Given the description of an element on the screen output the (x, y) to click on. 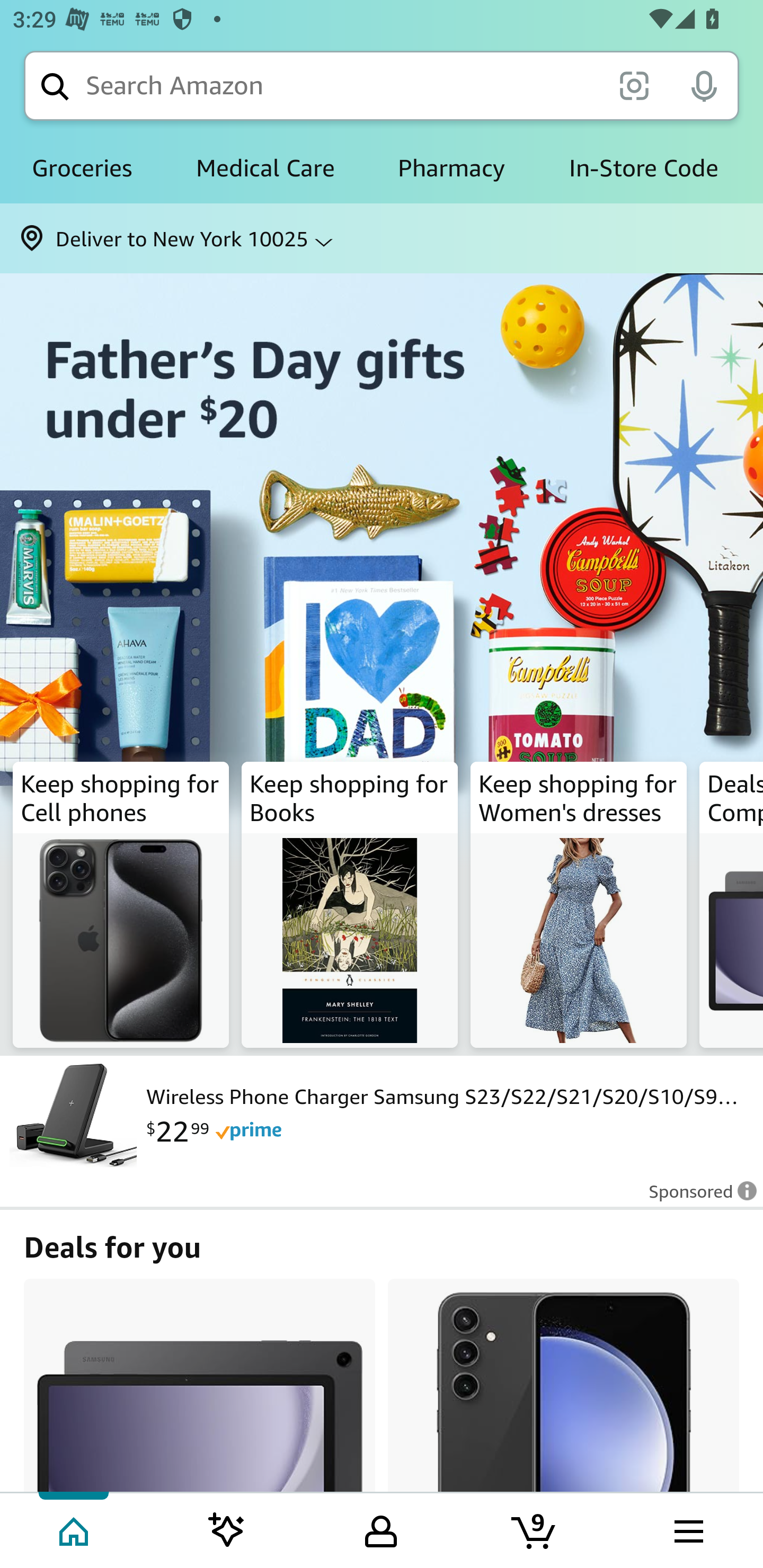
scan it (633, 85)
Groceries (82, 168)
Medical Care (265, 168)
Pharmacy (451, 168)
In-Store Code (643, 168)
Deliver to New York 10025 ⌵ (381, 237)
Father's Day gifts under $20 (381, 513)
Keep shopping for Books Keep shopping for Books (349, 904)
Leave feedback on Sponsored ad Sponsored  (696, 1196)
Home Tab 1 of 5 (75, 1529)
Inspire feed Tab 2 of 5 (227, 1529)
Your Amazon.com Tab 3 of 5 (380, 1529)
Cart 9 items Tab 4 of 5 9 (534, 1529)
Browse menu Tab 5 of 5 (687, 1529)
